Given the description of an element on the screen output the (x, y) to click on. 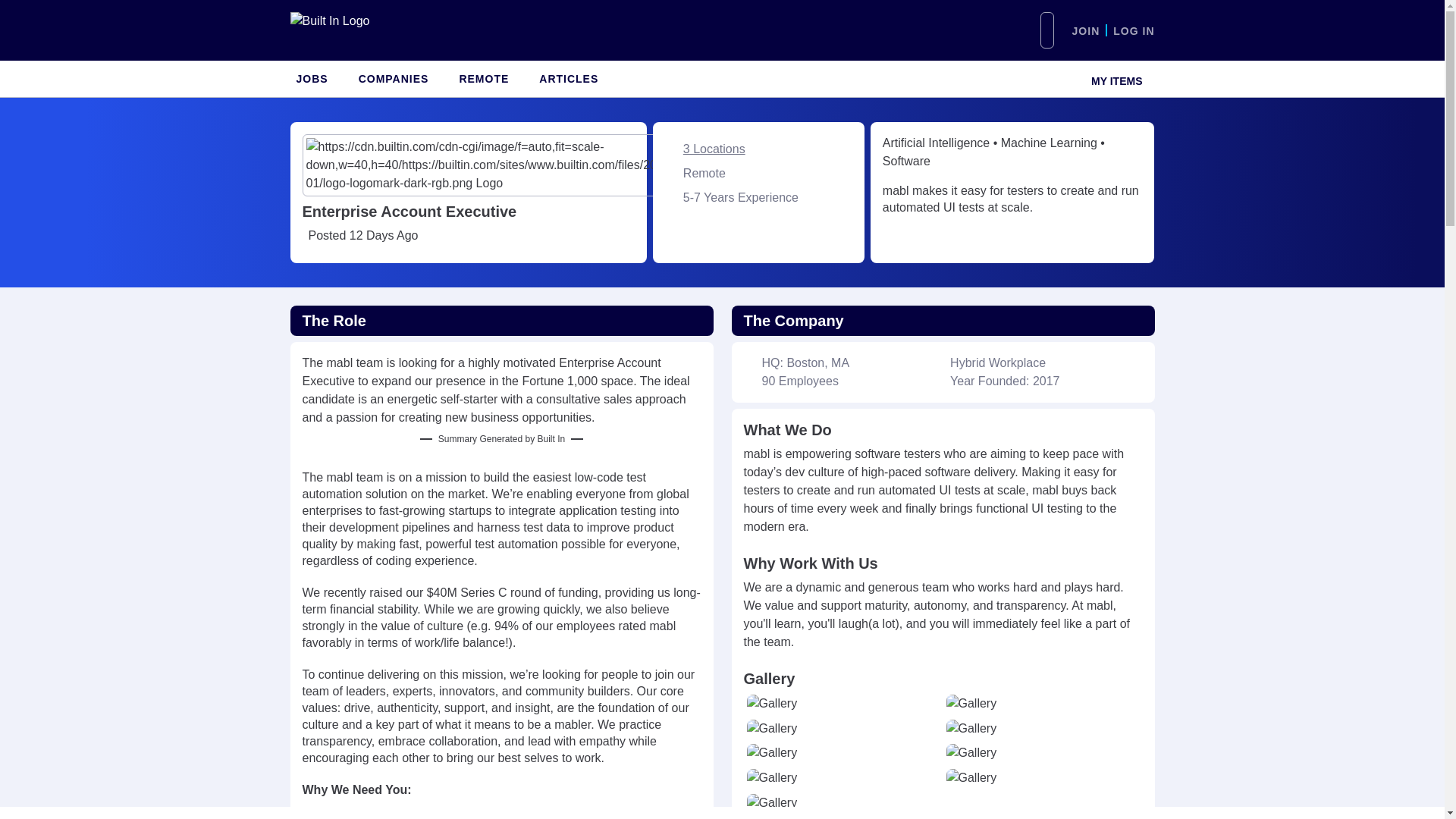
JOIN (1085, 30)
LOG IN (1133, 30)
COMPANIES (393, 78)
JOBS (311, 78)
ARTICLES (568, 78)
MY ITEMS (1113, 78)
mabl (709, 165)
REMOTE (483, 78)
